Given the description of an element on the screen output the (x, y) to click on. 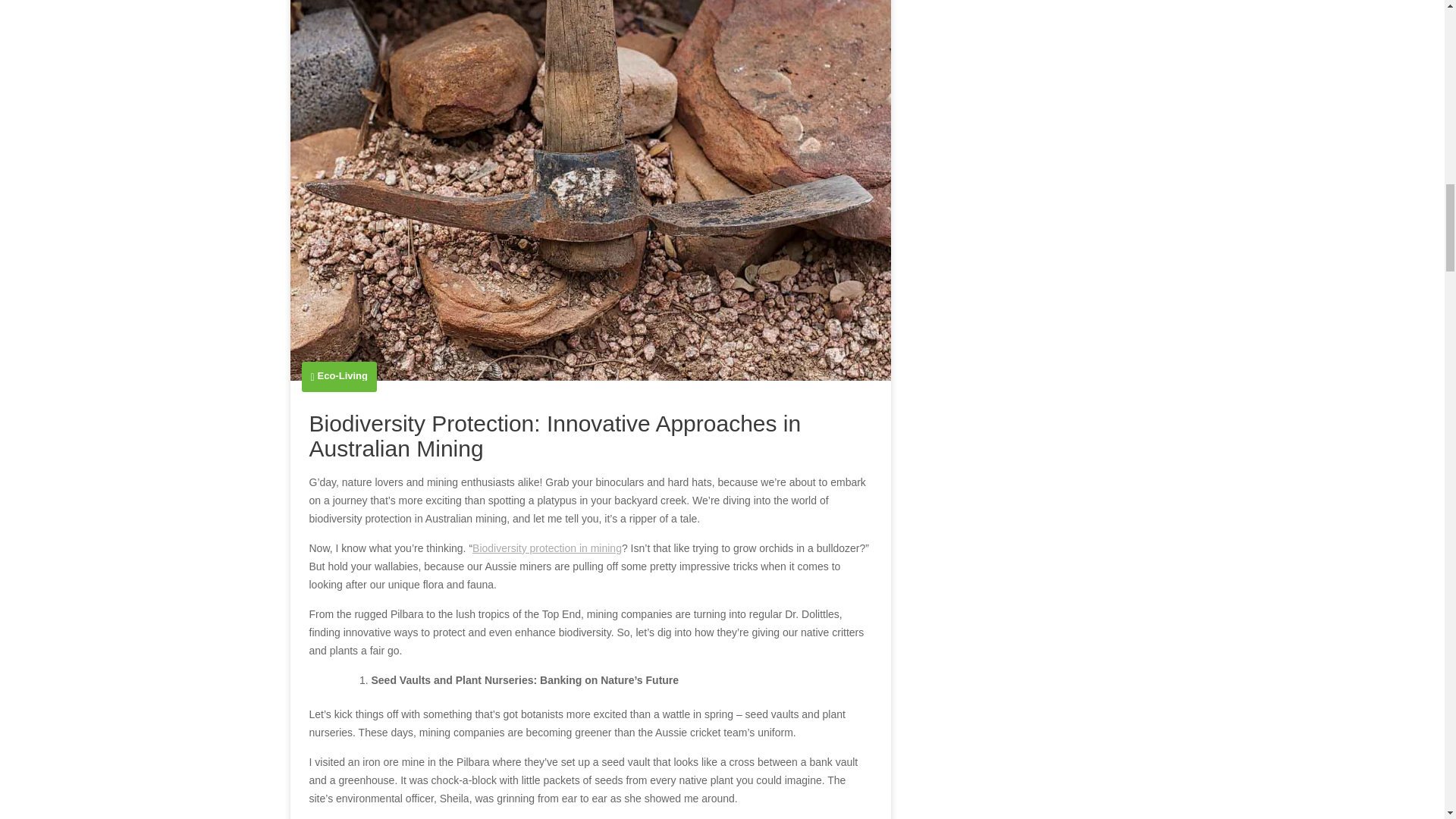
Biodiversity protection in mining (546, 548)
Eco-Living (342, 375)
